Given the description of an element on the screen output the (x, y) to click on. 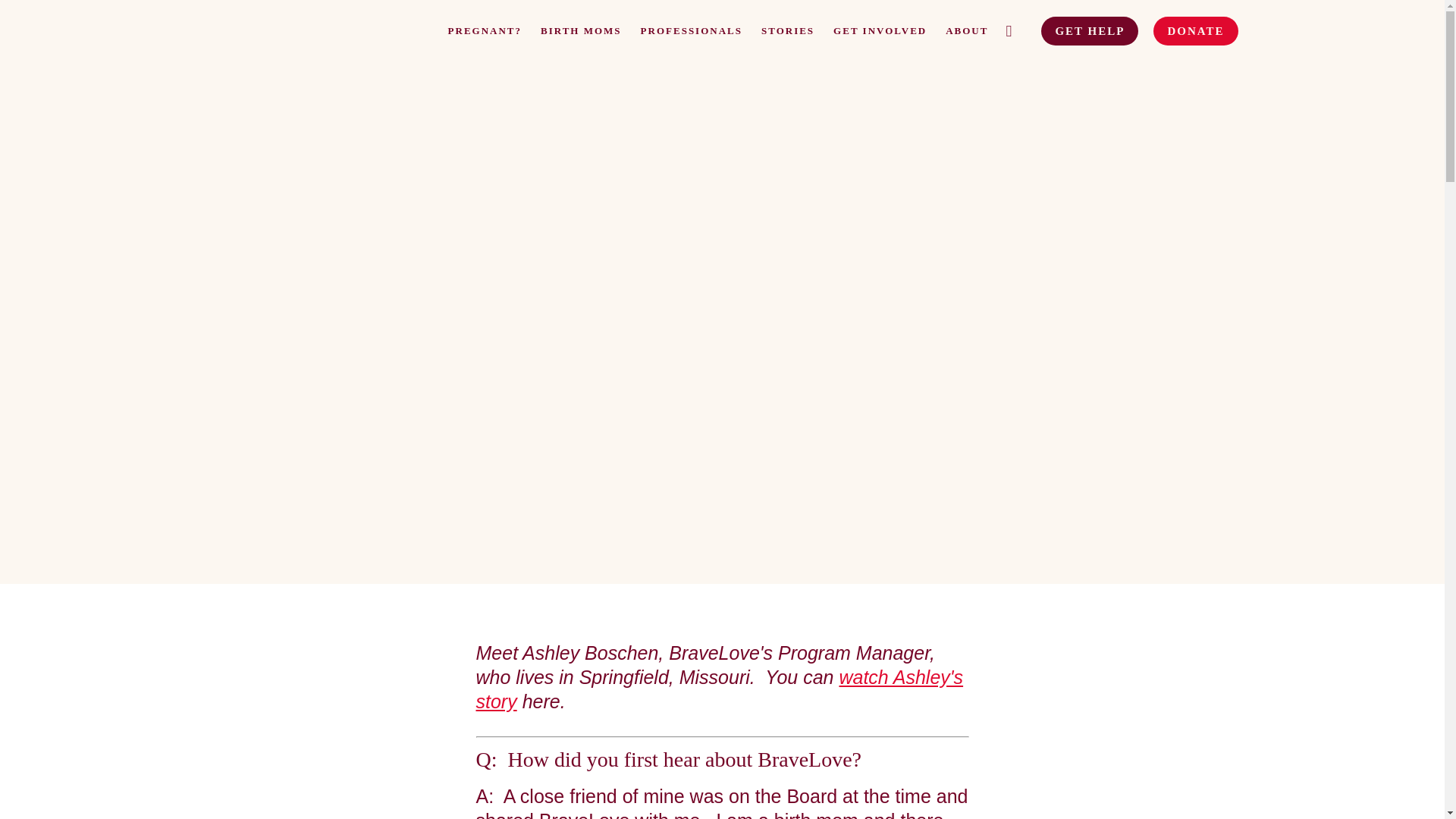
GET HELP (1089, 30)
PROFESSIONALS (691, 30)
watch Ashley's story (719, 688)
BIRTH MOMS (580, 30)
GET INVOLVED (879, 30)
DONATE (1195, 30)
STORIES (787, 30)
ABOUT (966, 30)
PREGNANT? (484, 30)
